Given the description of an element on the screen output the (x, y) to click on. 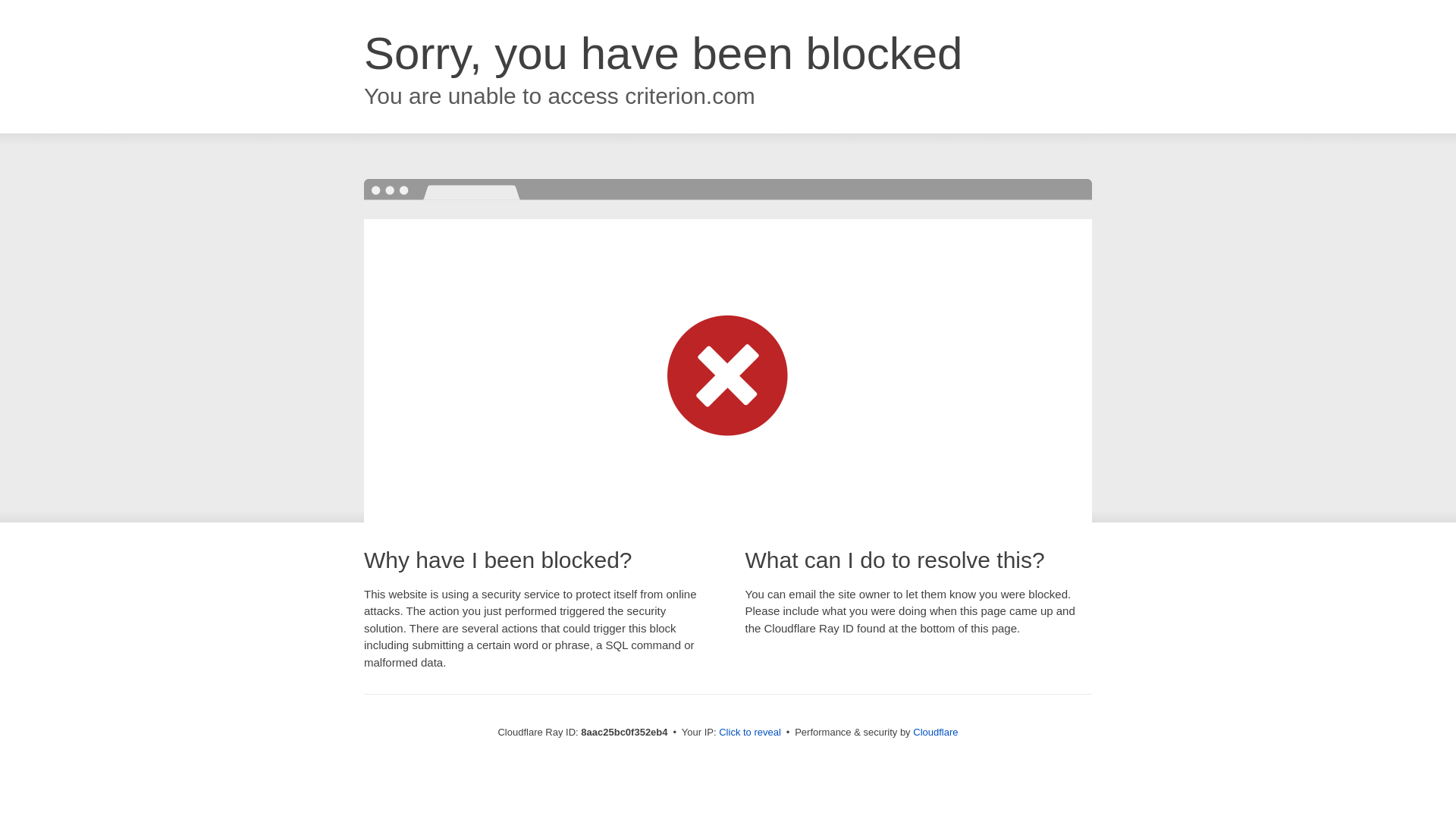
Click to reveal (749, 732)
Cloudflare (935, 731)
